Given the description of an element on the screen output the (x, y) to click on. 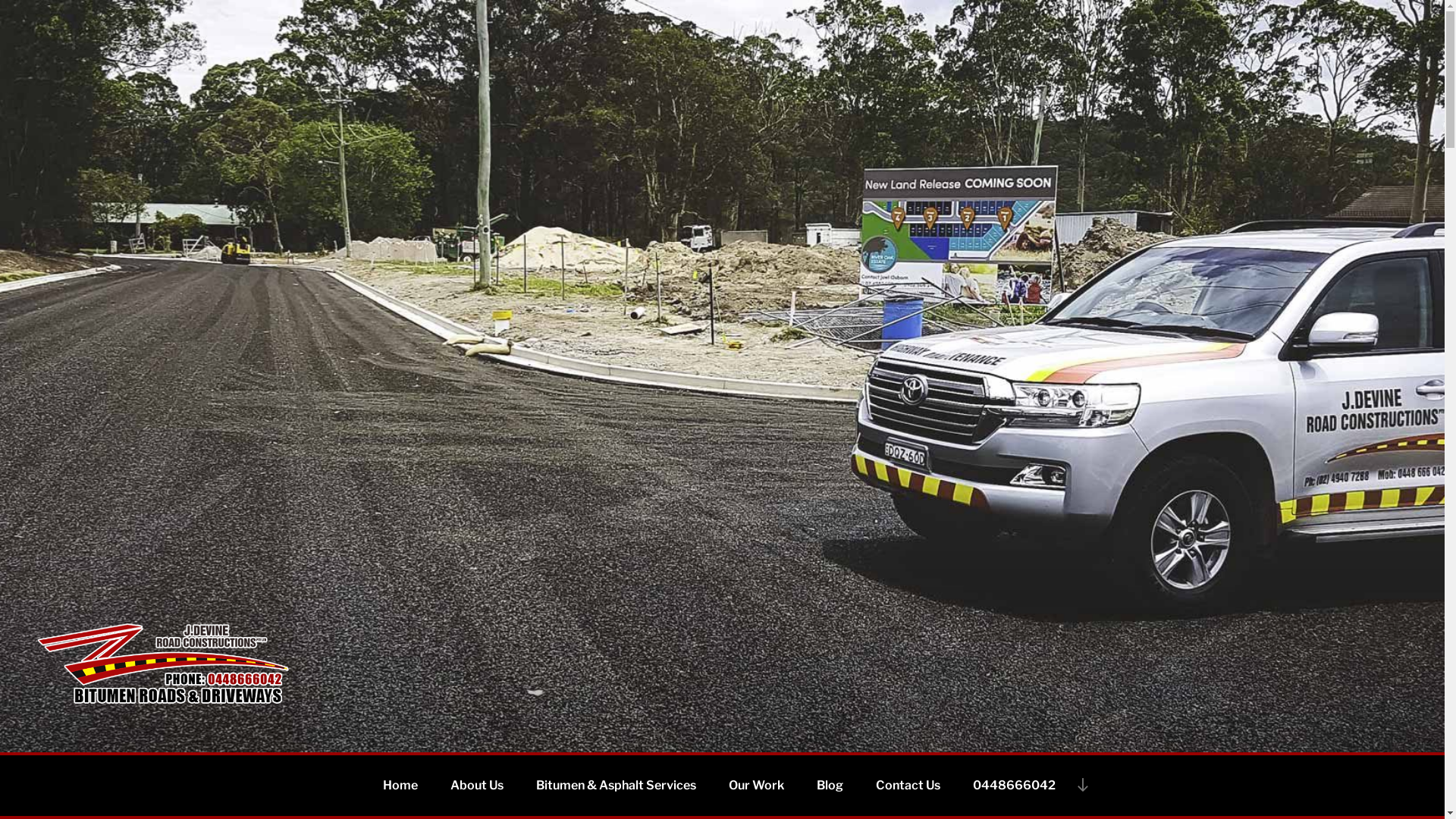
About Us Element type: text (476, 785)
Our Work Element type: text (755, 785)
Blog Element type: text (828, 785)
0448666042 Element type: text (1013, 785)
Bitumen & Asphalt Services Element type: text (615, 785)
Contact Us Element type: text (906, 785)
Scroll down to content Element type: text (1082, 784)
Home Element type: text (399, 785)
J. DEVINE ROAD CONSTRUCTIONS Element type: text (301, 732)
